Given the description of an element on the screen output the (x, y) to click on. 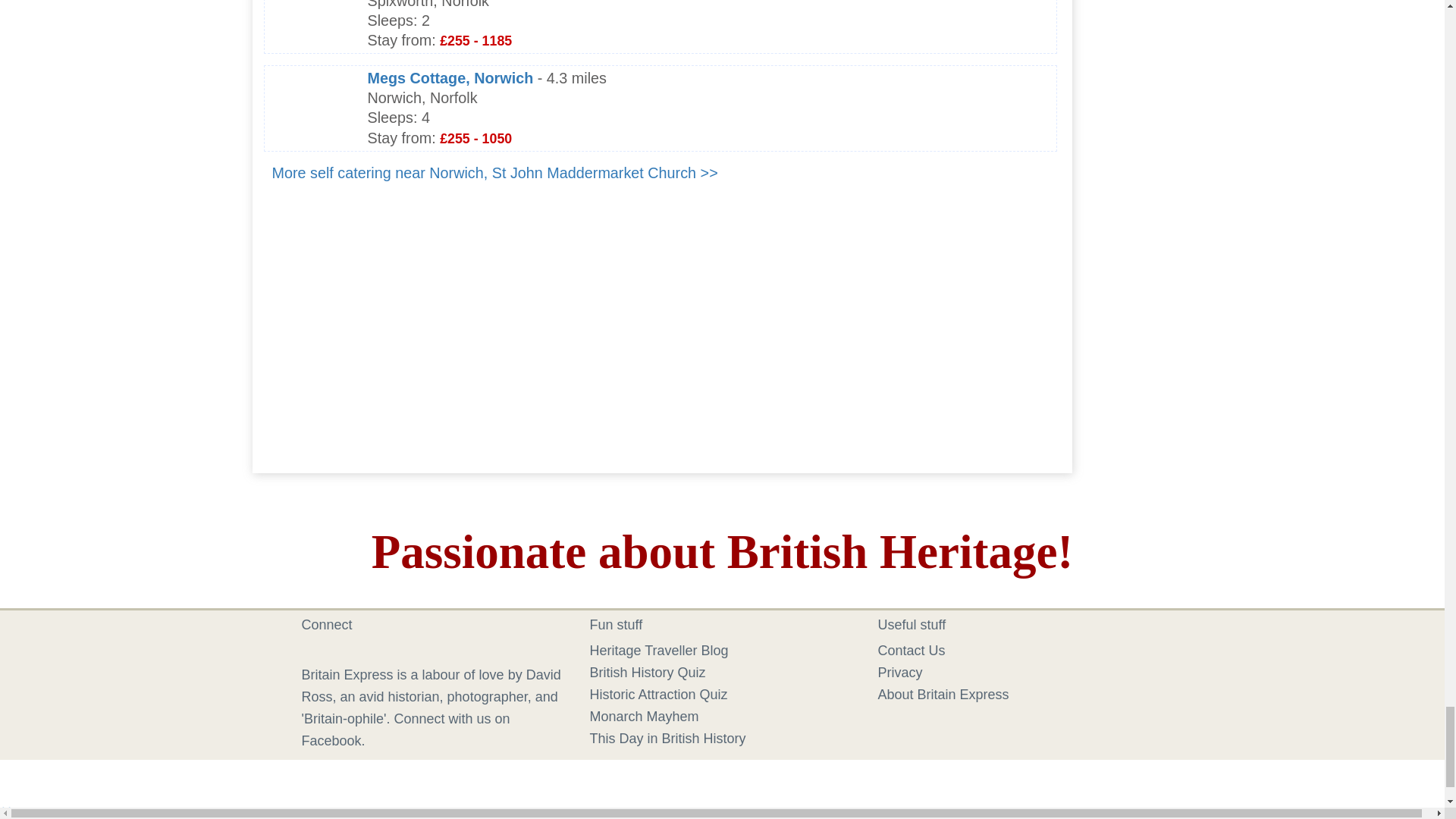
Britain Express on Facebook (313, 651)
